Given the description of an element on the screen output the (x, y) to click on. 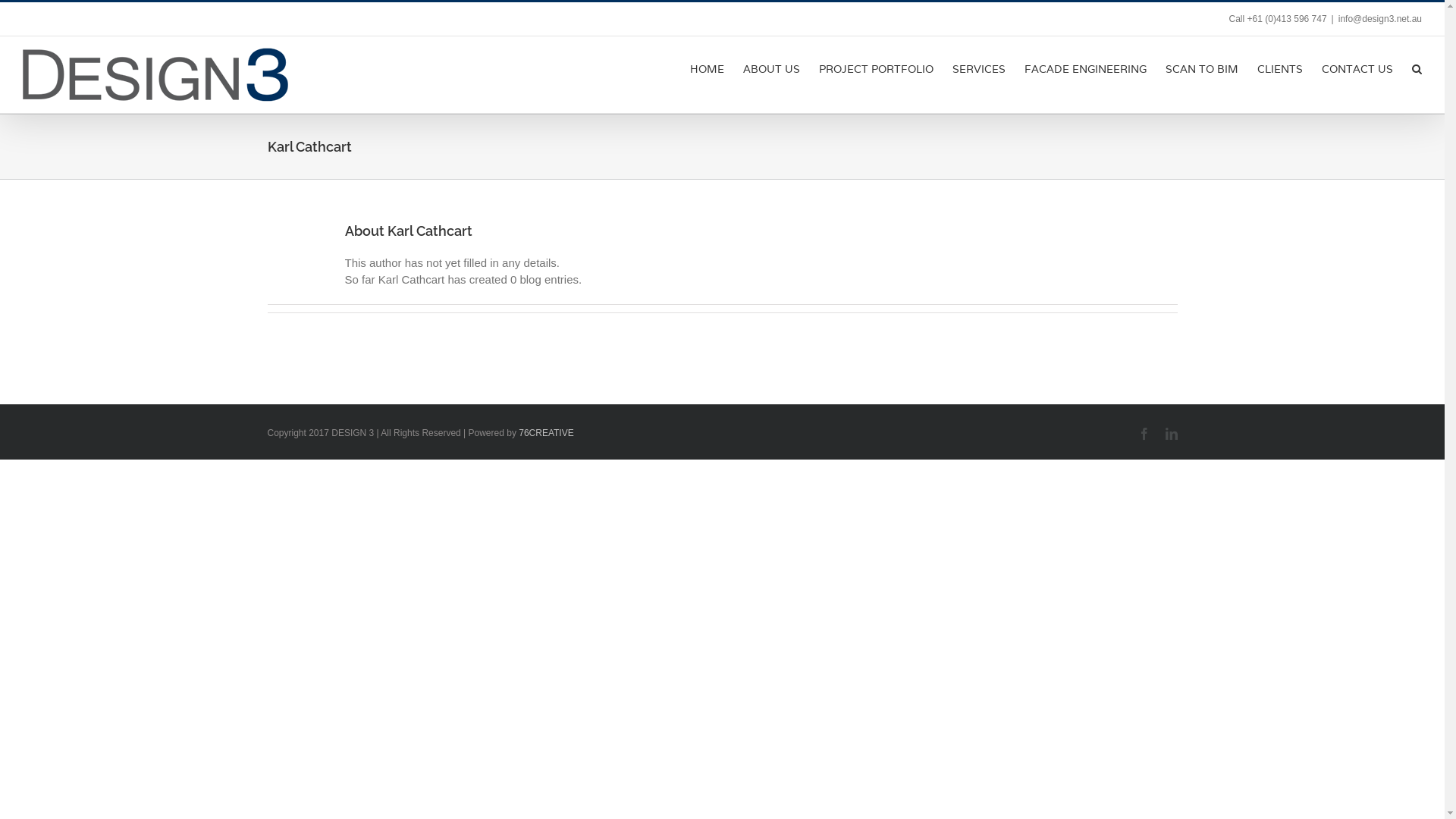
PROJECT PORTFOLIO Element type: text (876, 68)
SERVICES Element type: text (978, 68)
Facebook Element type: text (1143, 433)
Linkedin Element type: text (1170, 433)
CLIENTS Element type: text (1279, 68)
ABOUT US Element type: text (771, 68)
info@design3.net.au Element type: text (1379, 18)
SCAN TO BIM Element type: text (1201, 68)
76CREATIVE Element type: text (545, 432)
HOME Element type: text (707, 68)
CONTACT US Element type: text (1357, 68)
FACADE ENGINEERING Element type: text (1085, 68)
Search Element type: hover (1416, 68)
